Given the description of an element on the screen output the (x, y) to click on. 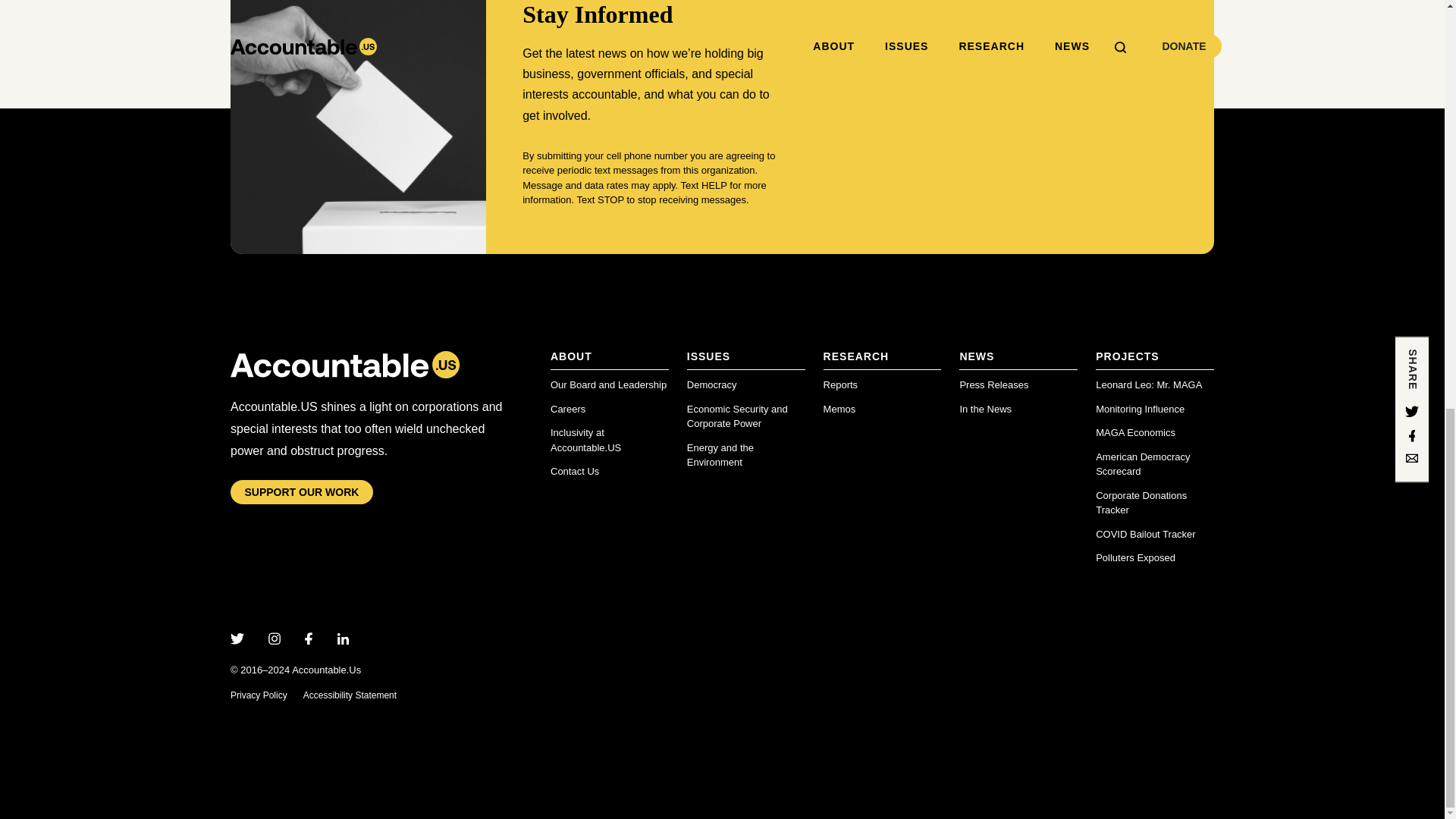
SUPPORT OUR WORK (301, 491)
